Given the description of an element on the screen output the (x, y) to click on. 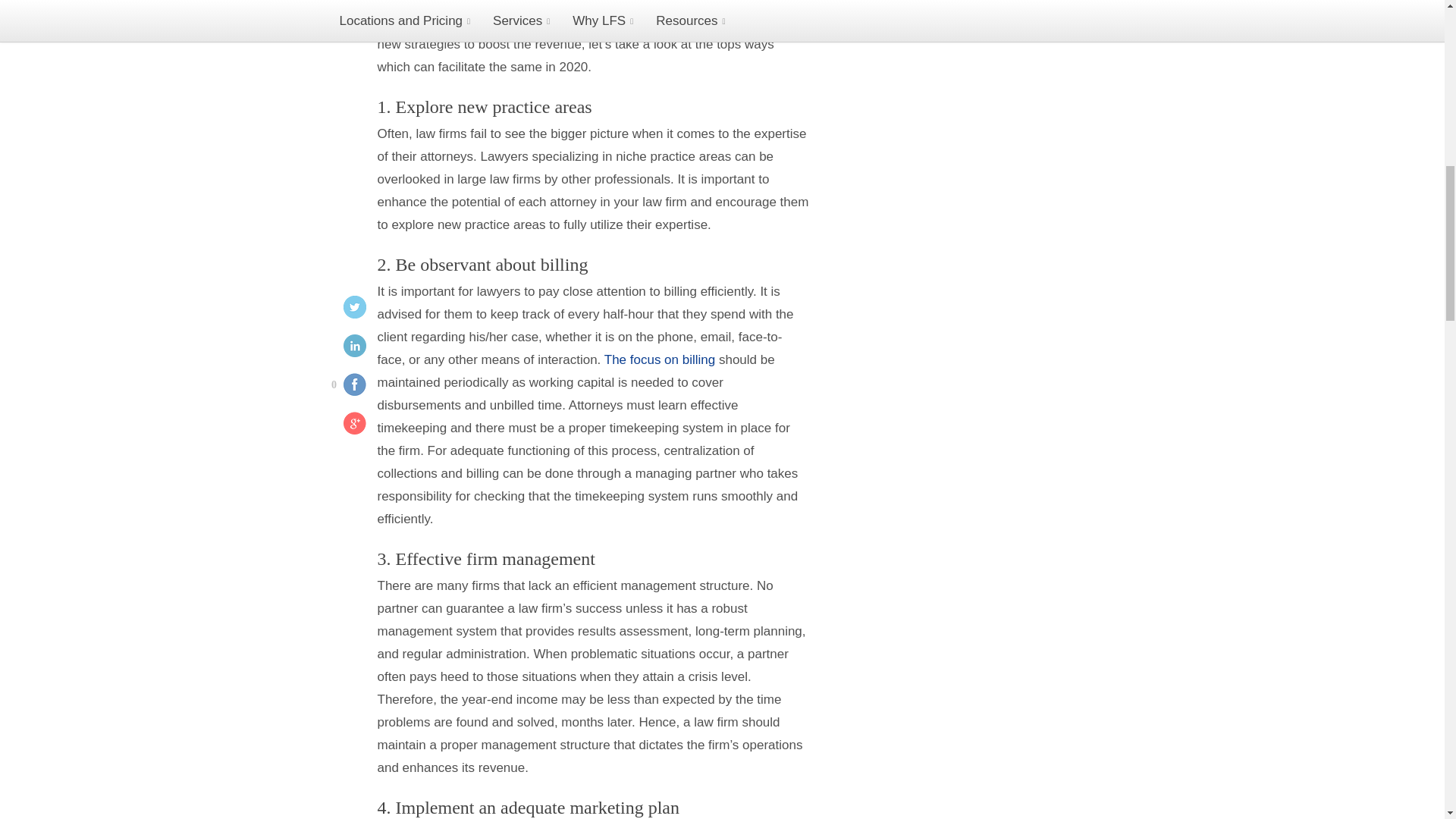
The focus on billing (659, 359)
